Given the description of an element on the screen output the (x, y) to click on. 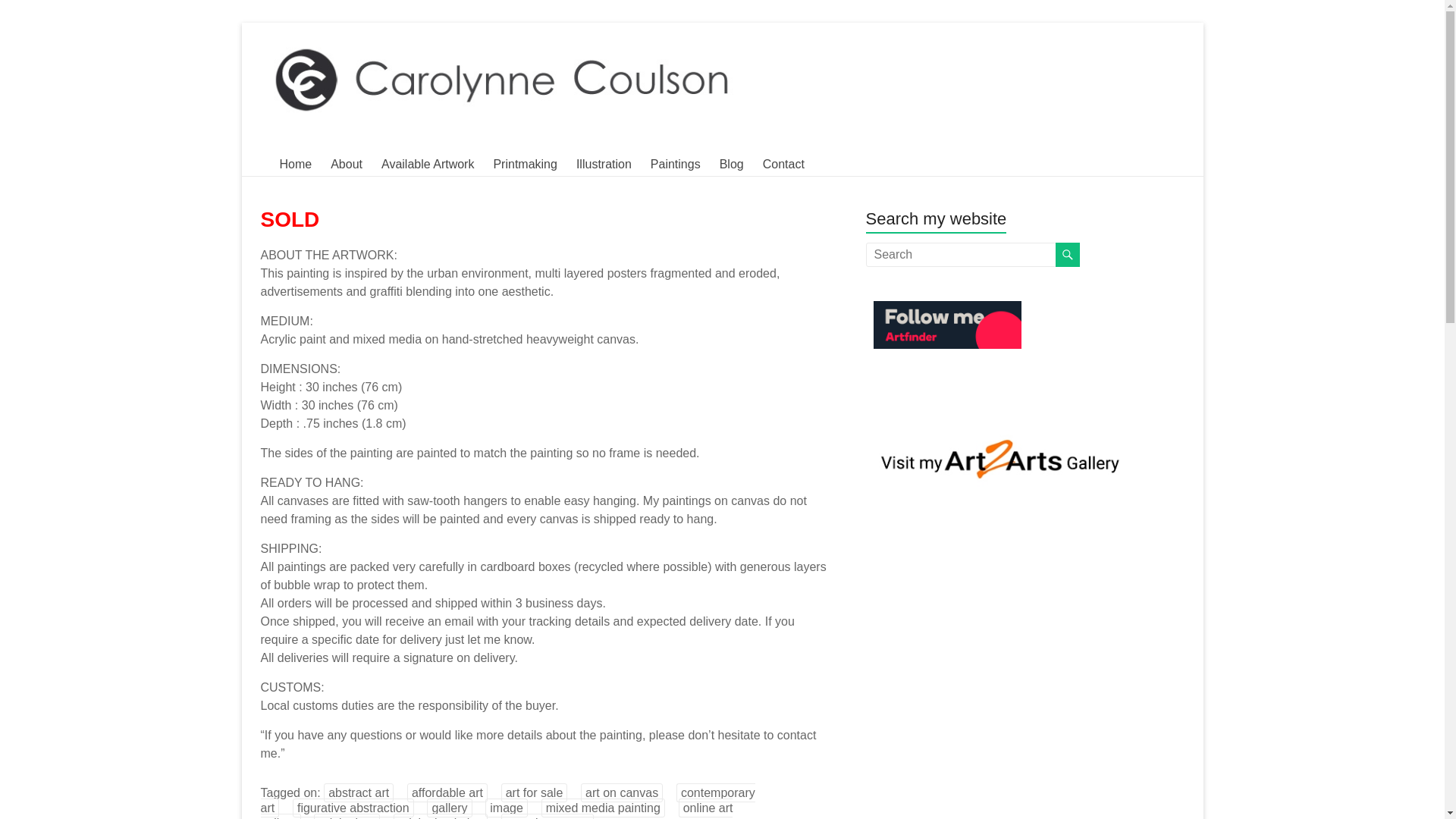
art on canvas (621, 792)
Contact (783, 164)
online art gallery (496, 808)
About (346, 164)
Home (295, 164)
contemporary art (507, 799)
abstract art (358, 792)
Paintings (675, 164)
original art (347, 816)
image (505, 807)
Follow Carolynne Coulson on Artfinder (947, 319)
figurative abstraction (352, 807)
raw abstract art (547, 816)
mixed media painting (603, 807)
Printmaking (524, 164)
